Given the description of an element on the screen output the (x, y) to click on. 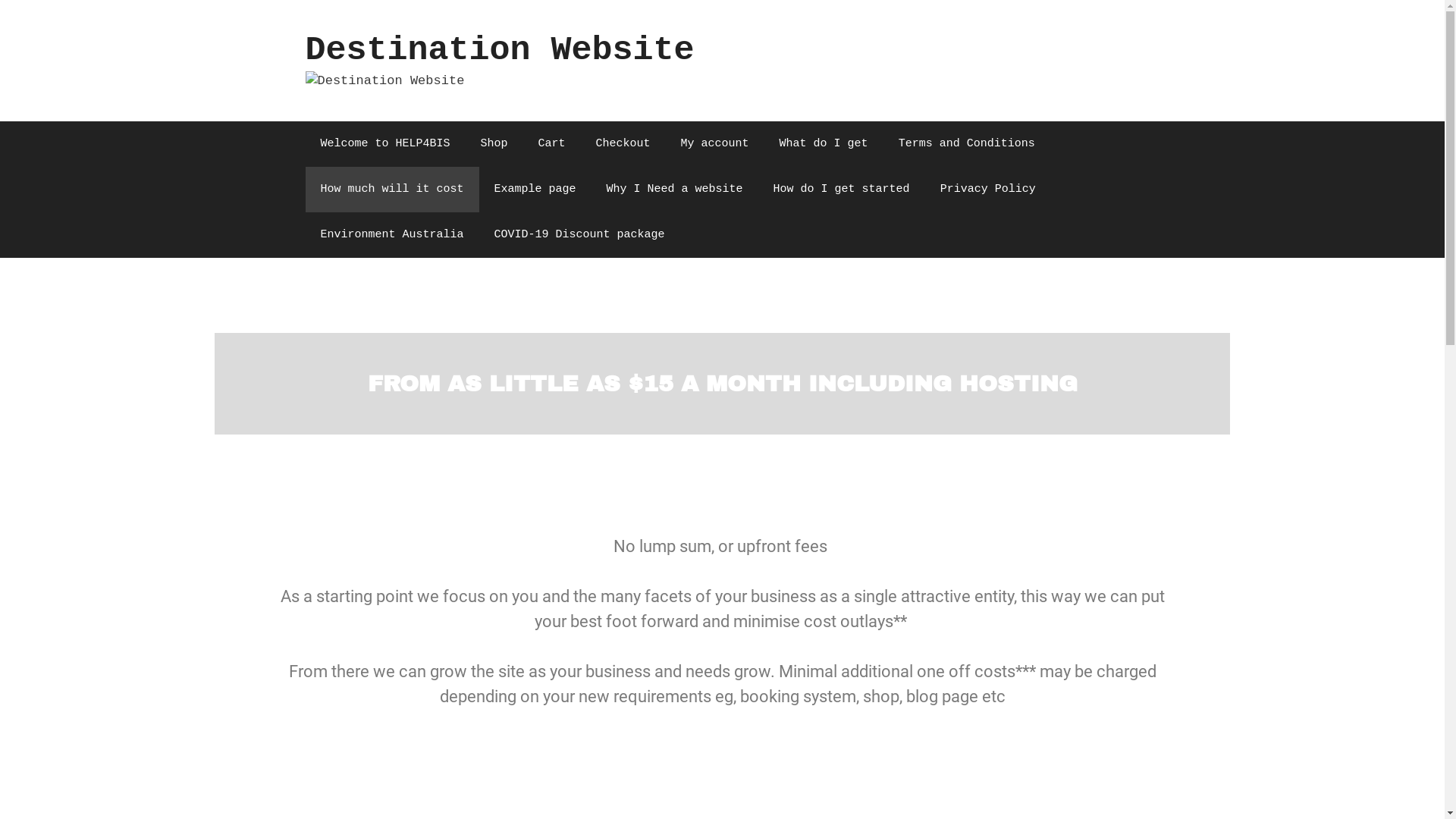
Privacy Policy Element type: text (988, 189)
Destination Website Element type: text (498, 50)
COVID-19 Discount package Element type: text (579, 234)
My account Element type: text (714, 143)
Terms and Conditions Element type: text (966, 143)
What do I get Element type: text (823, 143)
Shop Element type: text (494, 143)
Welcome to HELP4BIS Element type: text (384, 143)
How do I get started Element type: text (841, 189)
Checkout Element type: text (622, 143)
Why I Need a website Element type: text (674, 189)
Cart Element type: text (551, 143)
How much will it cost Element type: text (391, 189)
Environment Australia Element type: text (391, 234)
Example page Element type: text (535, 189)
